Given the description of an element on the screen output the (x, y) to click on. 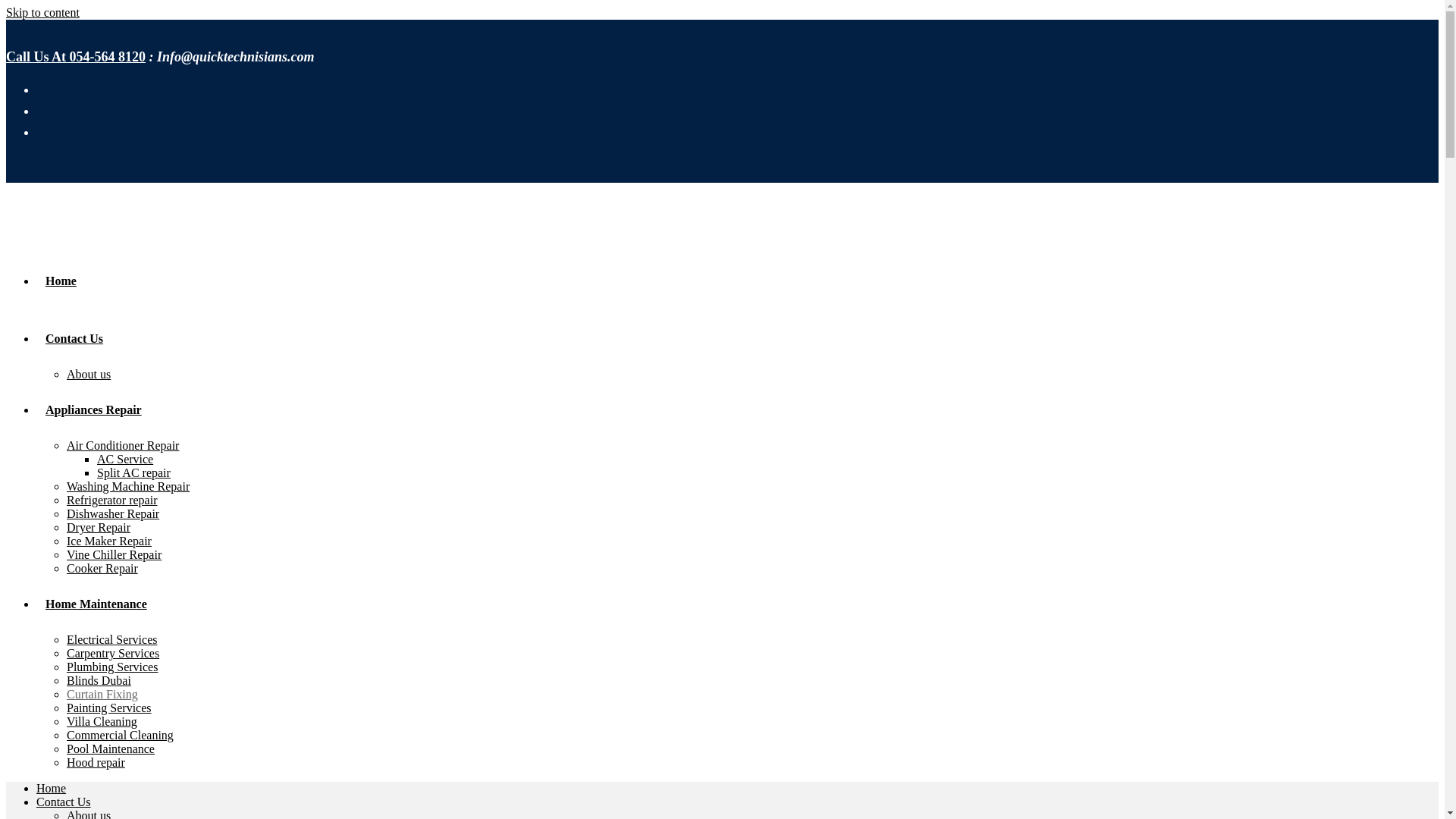
Cooker Repair (102, 567)
Washing Machine Repair (127, 486)
Appliances Repair (93, 409)
Ice Maker Repair (108, 540)
About us (88, 373)
Blinds Dubai (98, 680)
Vine Chiller Repair (113, 554)
AC Service (124, 459)
Carpentry Services (112, 653)
Home (50, 788)
Hood repair (95, 762)
Commercial Cleaning (119, 735)
Dishwasher Repair (112, 513)
Skip to content (42, 11)
Air Conditioner Repair (122, 445)
